Given the description of an element on the screen output the (x, y) to click on. 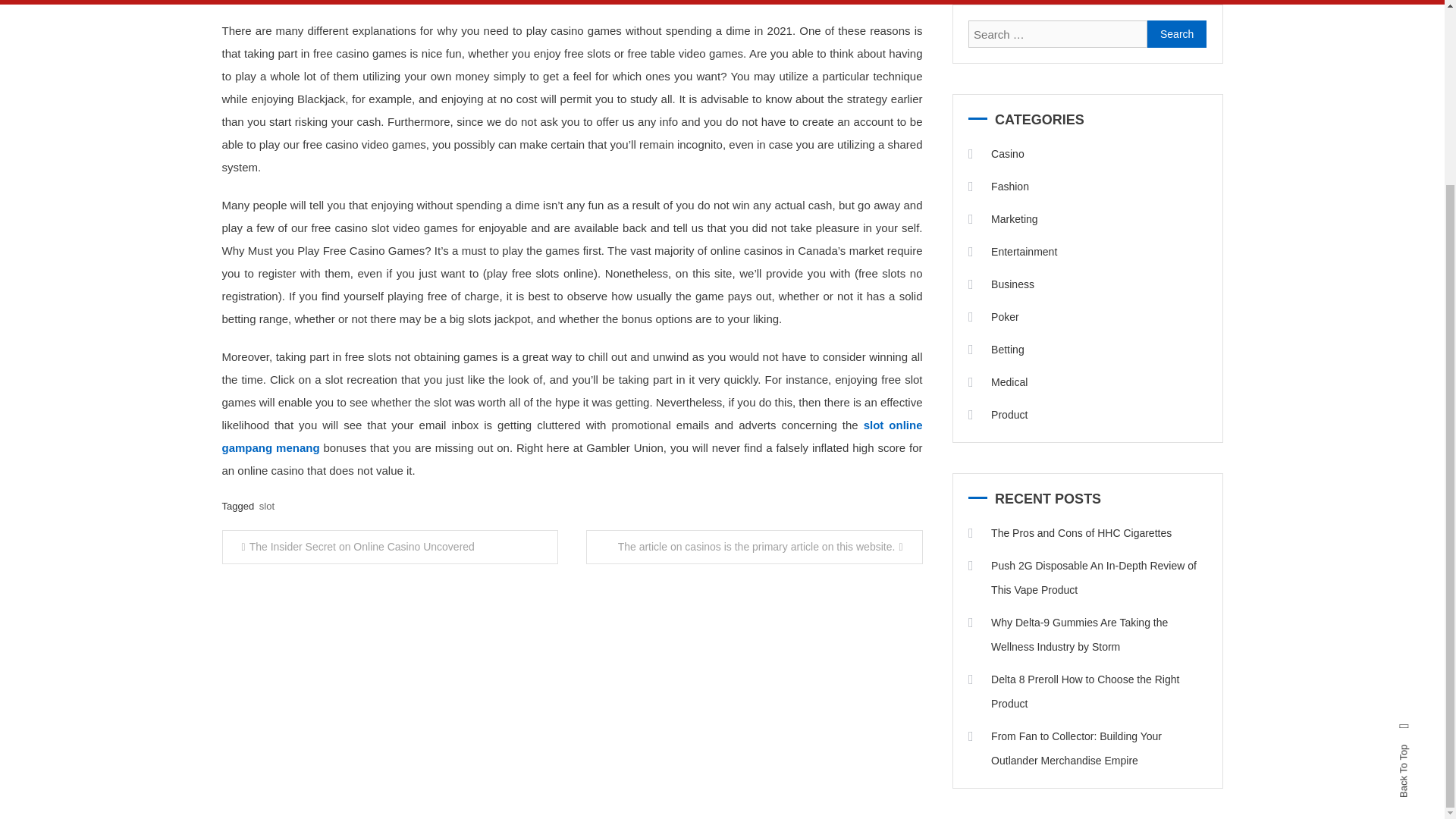
POKER (705, 2)
Search (1177, 33)
FASHION (319, 2)
Fashion (998, 186)
slot online gampang menang (571, 436)
ENTERTAINMENT (519, 2)
BUSINESS (625, 2)
slot (267, 505)
The Insider Secret on Online Casino Uncovered (389, 546)
